Given the description of an element on the screen output the (x, y) to click on. 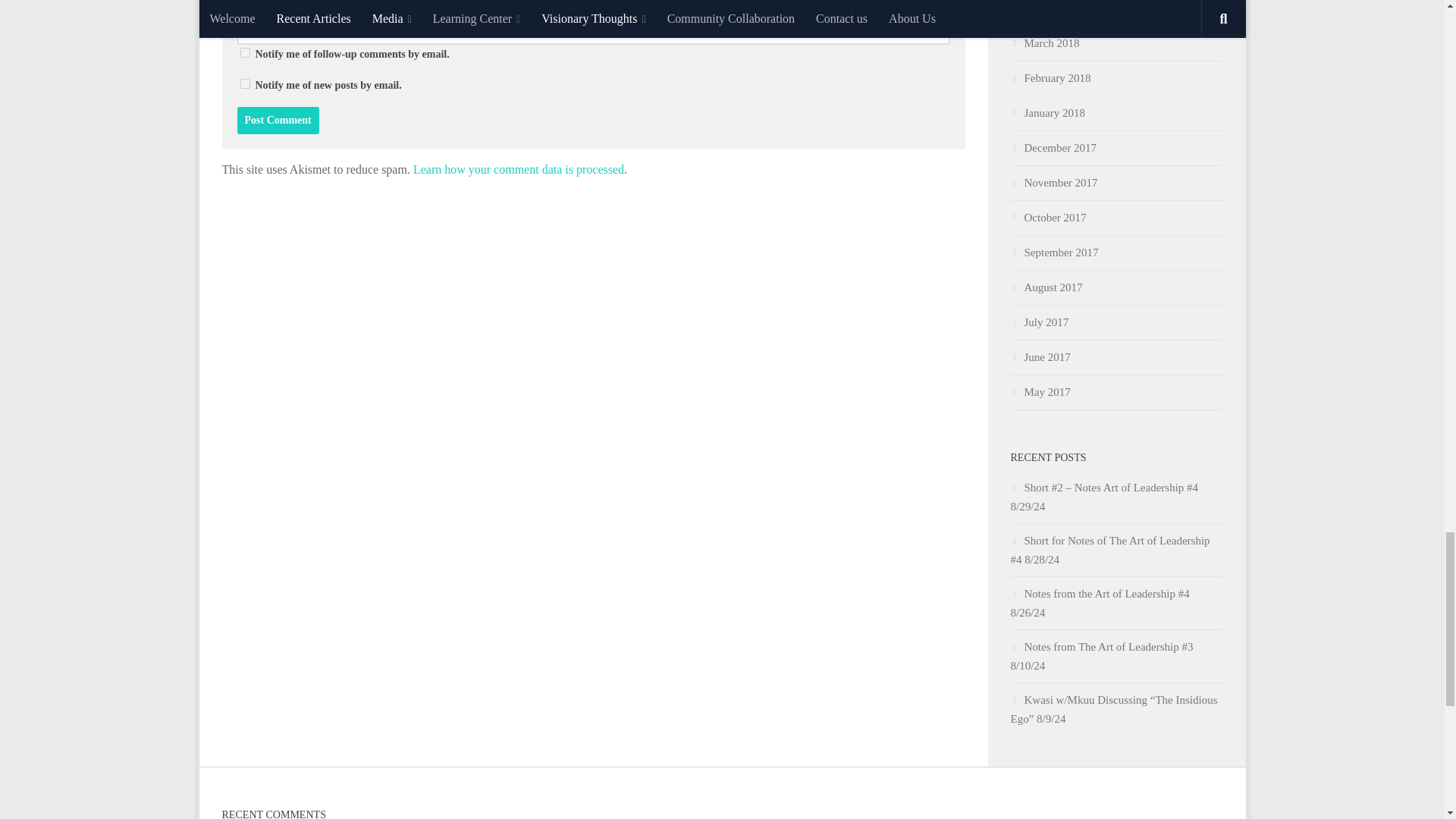
Post Comment (276, 120)
subscribe (244, 52)
subscribe (244, 83)
